Given the description of an element on the screen output the (x, y) to click on. 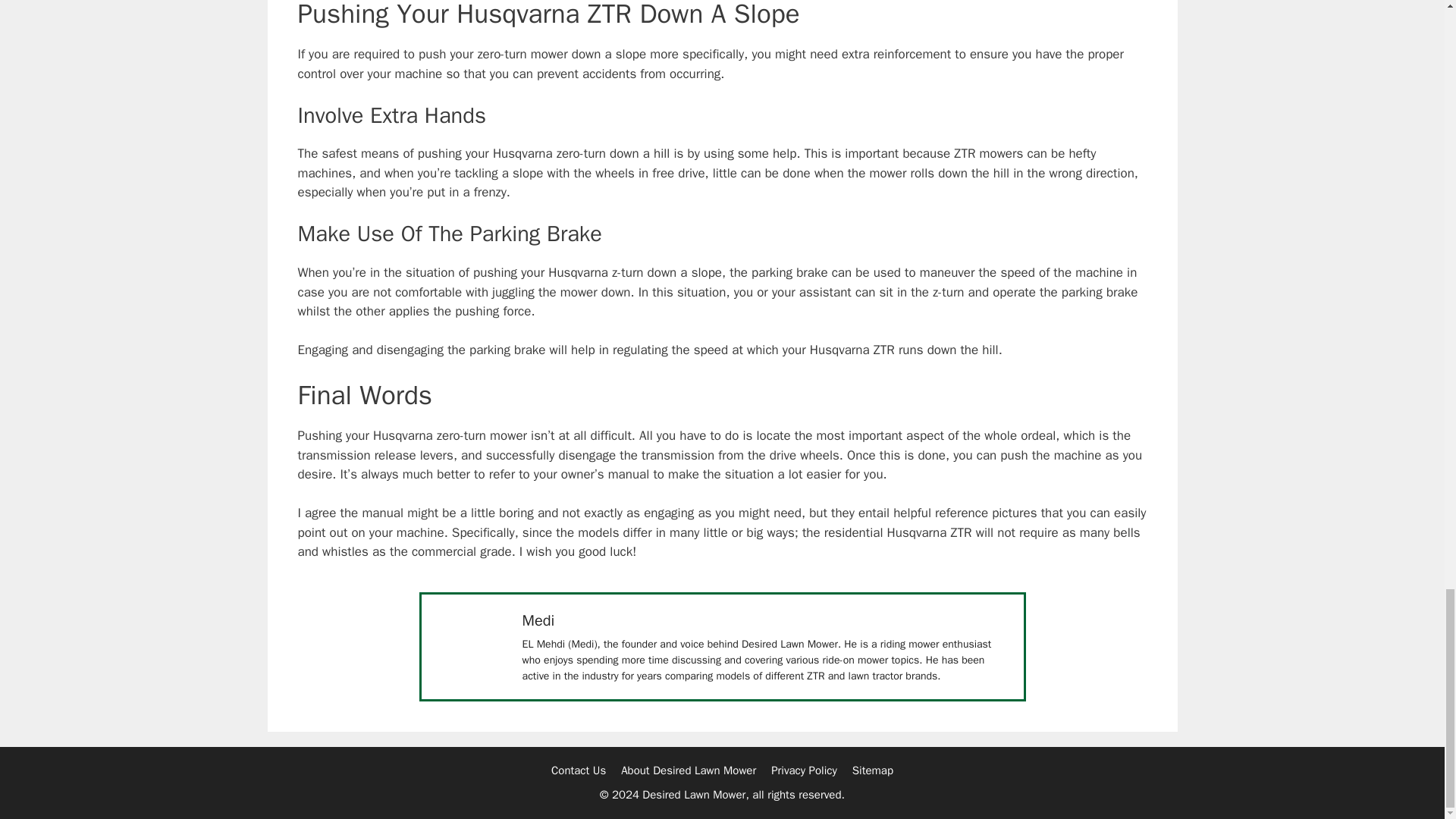
Sitemap (872, 770)
About Desired Lawn Mower (688, 770)
Medi (538, 619)
Privacy Policy (804, 770)
Contact Us (578, 770)
